Given the description of an element on the screen output the (x, y) to click on. 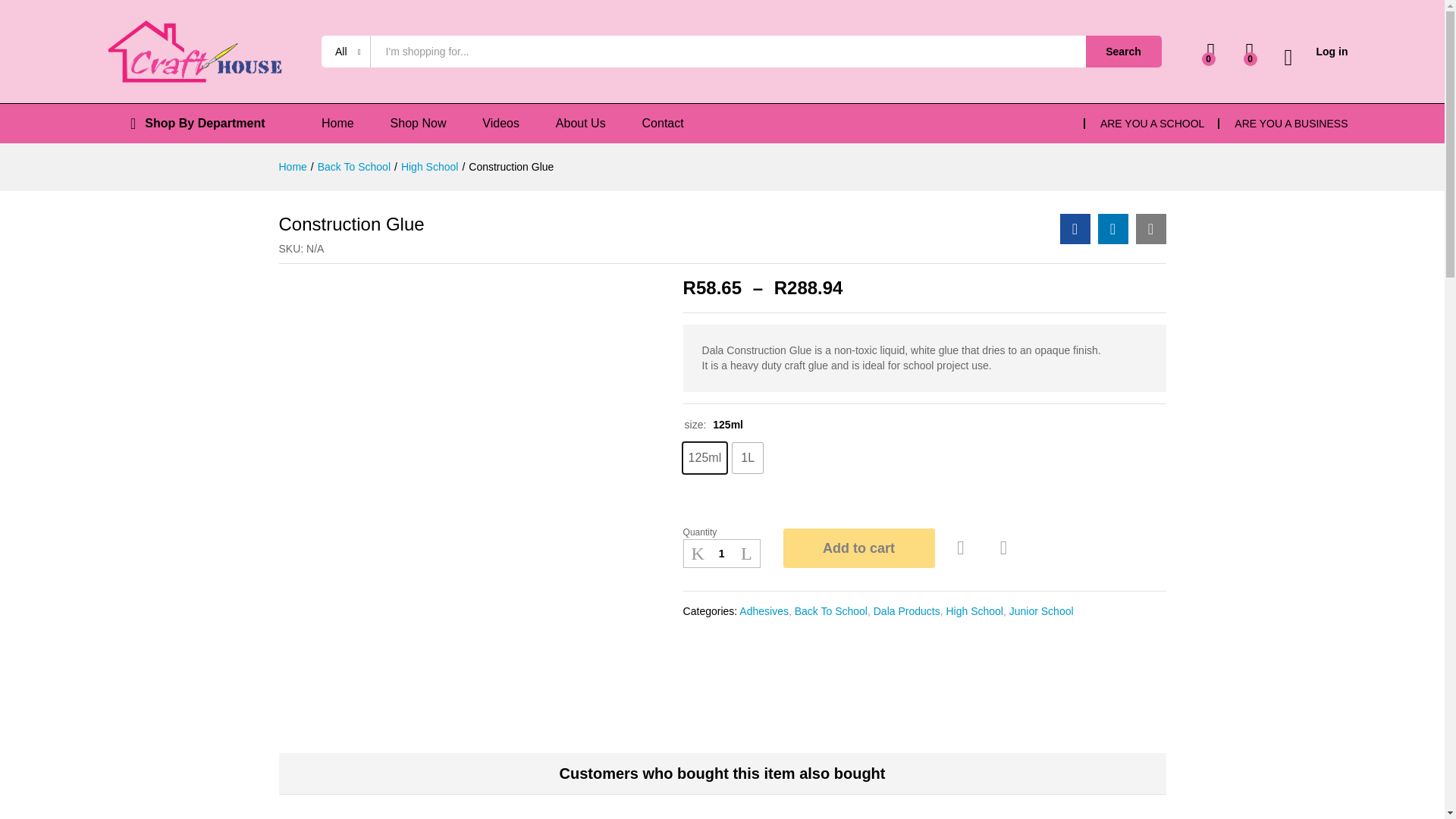
1L (747, 458)
Compare (1003, 548)
Construction Glue (1150, 228)
Add to wishlist (962, 548)
Qty (721, 553)
1 (721, 553)
Construction Glue (1074, 228)
125ml (704, 458)
